Given the description of an element on the screen output the (x, y) to click on. 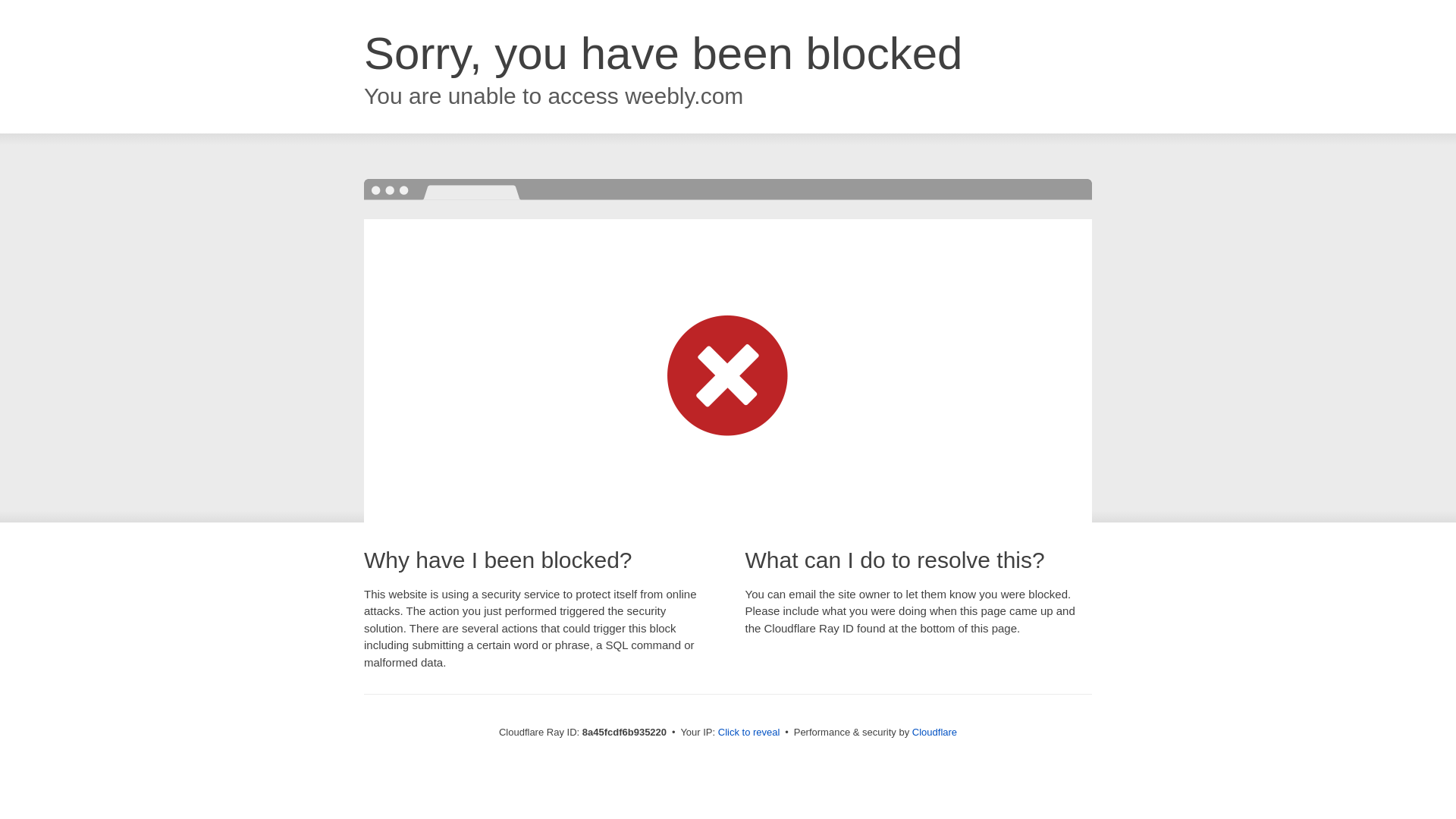
Cloudflare (934, 731)
Click to reveal (748, 732)
